Given the description of an element on the screen output the (x, y) to click on. 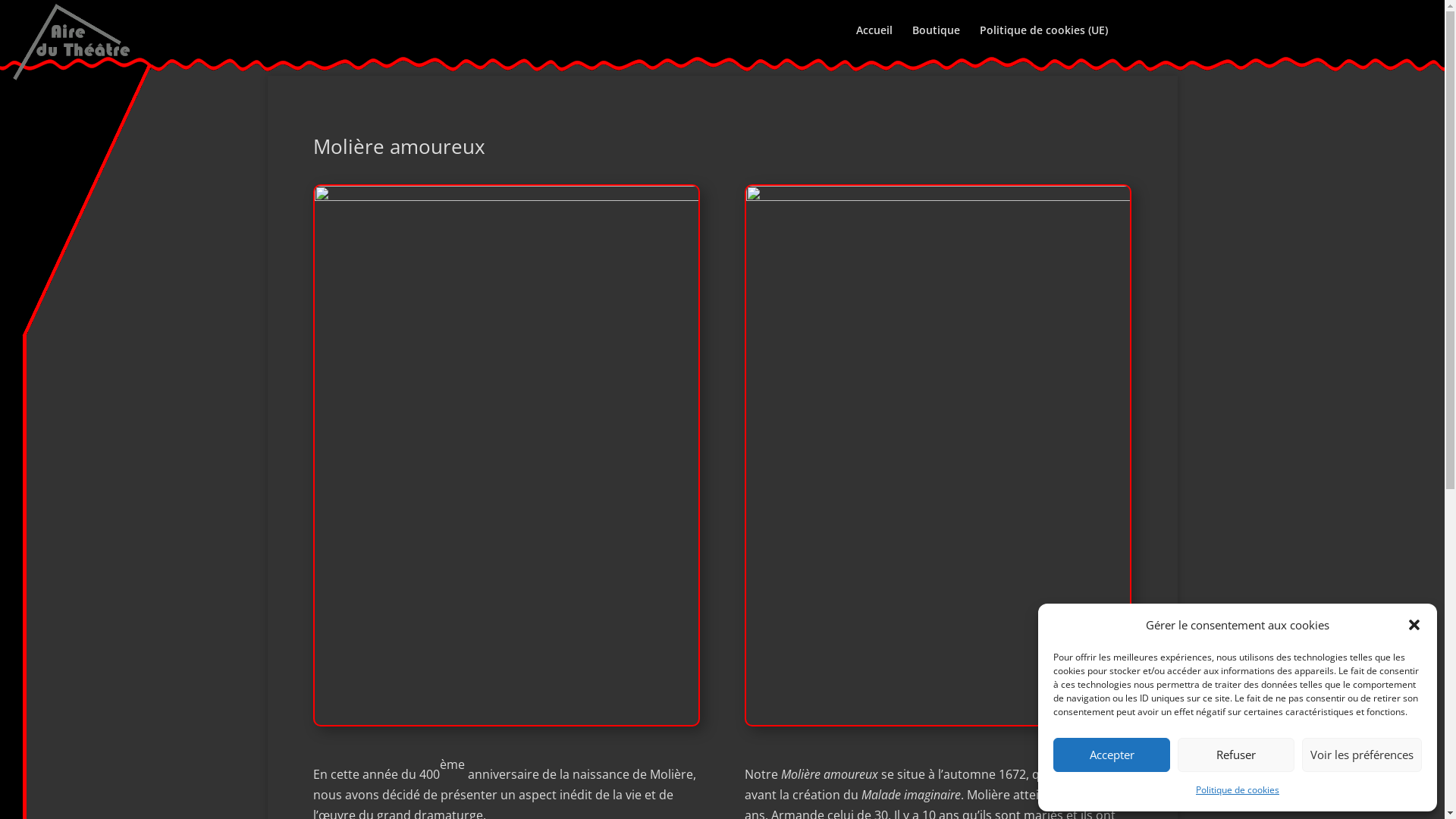
Politique de cookies (UE) Element type: text (1043, 42)
Boutique Element type: text (935, 42)
Moliere-amoureux-recto Element type: hover (505, 454)
Moliere-amoureux-verso Element type: hover (937, 454)
Refuser Element type: text (1235, 754)
Politique de cookies Element type: text (1237, 789)
Accepter Element type: text (1111, 754)
Accueil Element type: text (873, 42)
